Given the description of an element on the screen output the (x, y) to click on. 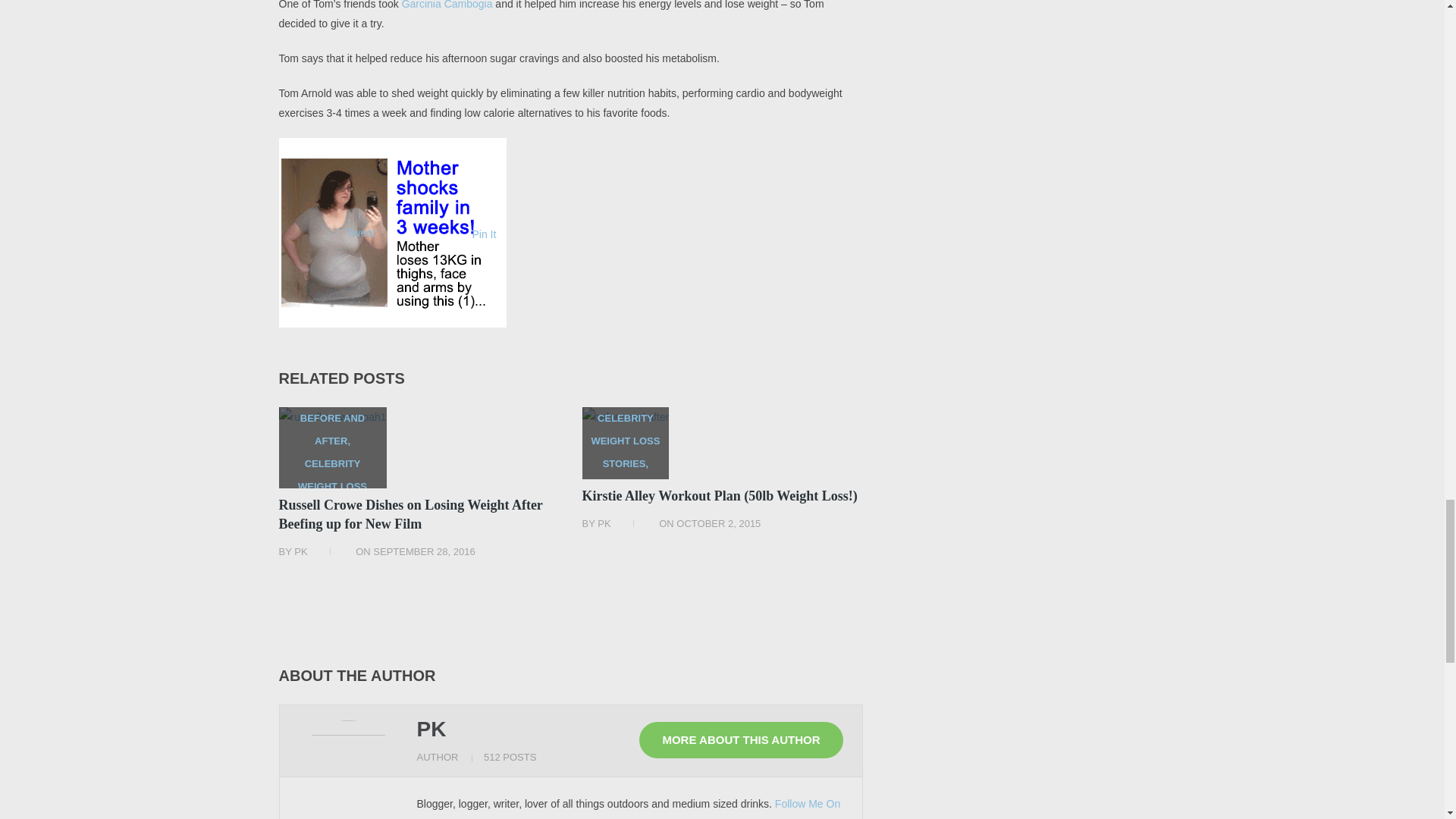
512 POSTS (509, 756)
BEFORE AND AFTER, CELEBRITY WEIGHT LOSS STORIES (333, 447)
Follow Me On Twitter! (628, 808)
Garcinia Cambogia (447, 4)
MORE ABOUT THIS AUTHOR (741, 739)
